Given the description of an element on the screen output the (x, y) to click on. 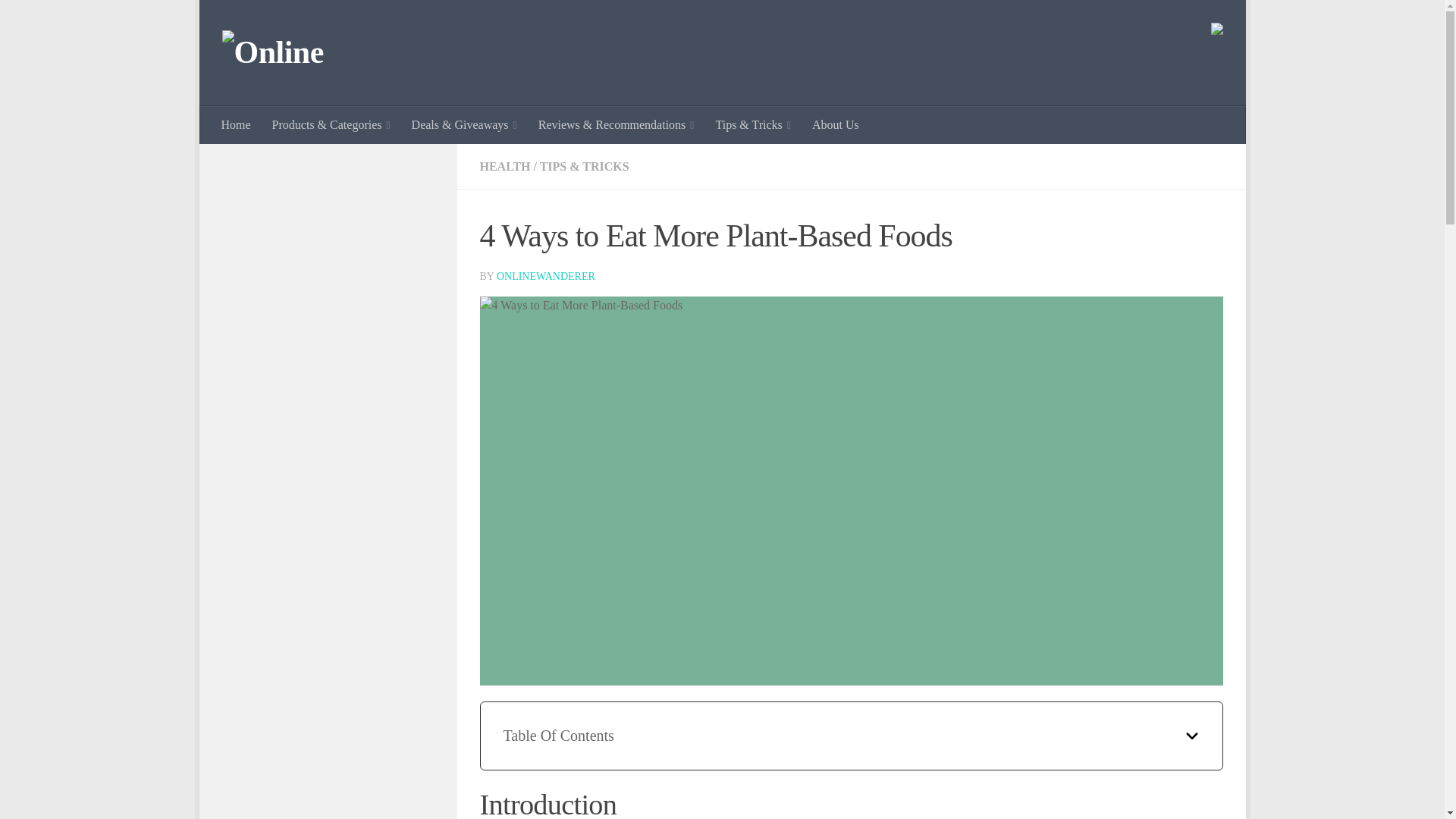
Posts by onlinewanderer (545, 276)
Skip to content (258, 20)
Home (236, 125)
